Given the description of an element on the screen output the (x, y) to click on. 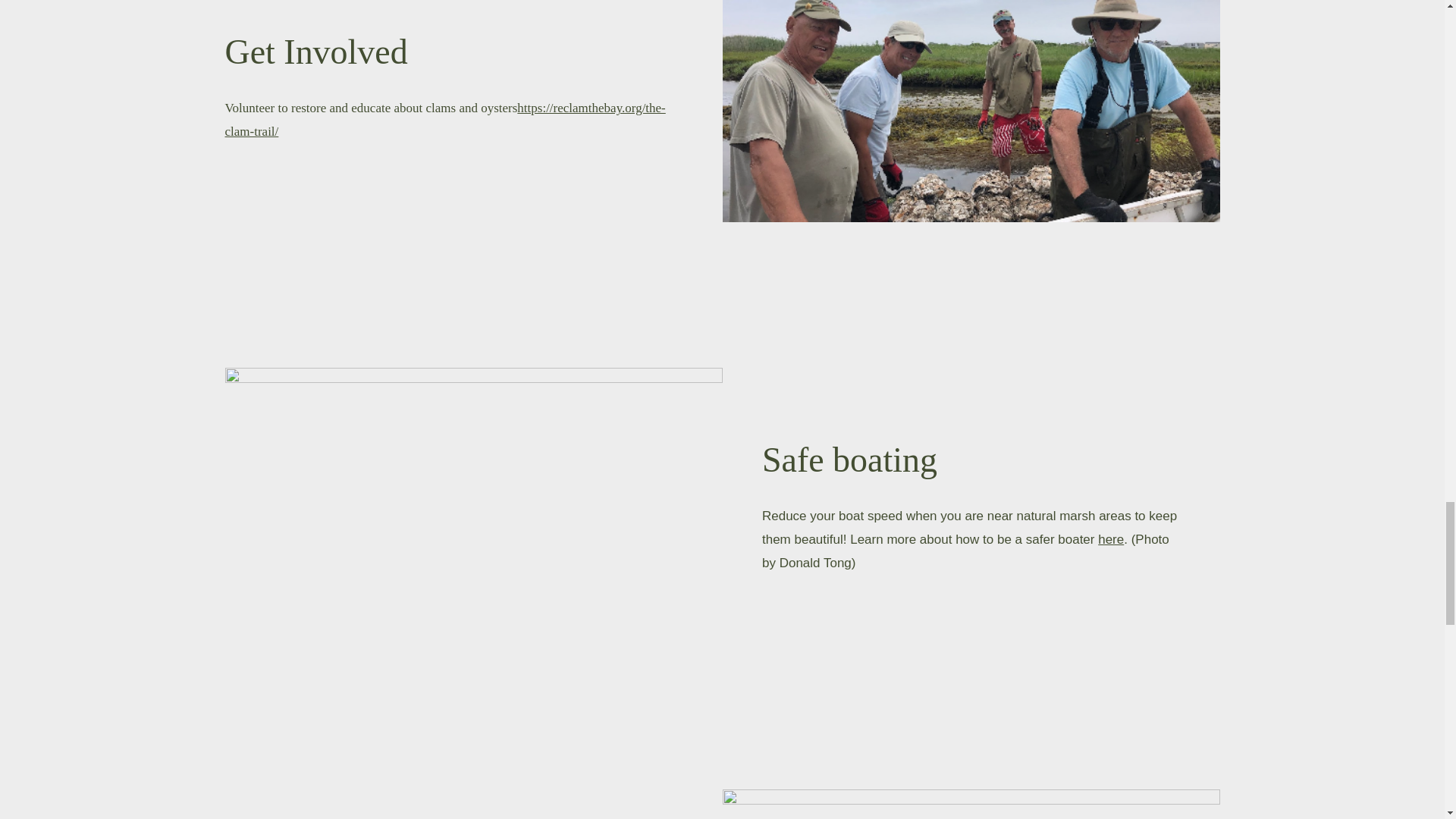
here (1110, 539)
